Given the description of an element on the screen output the (x, y) to click on. 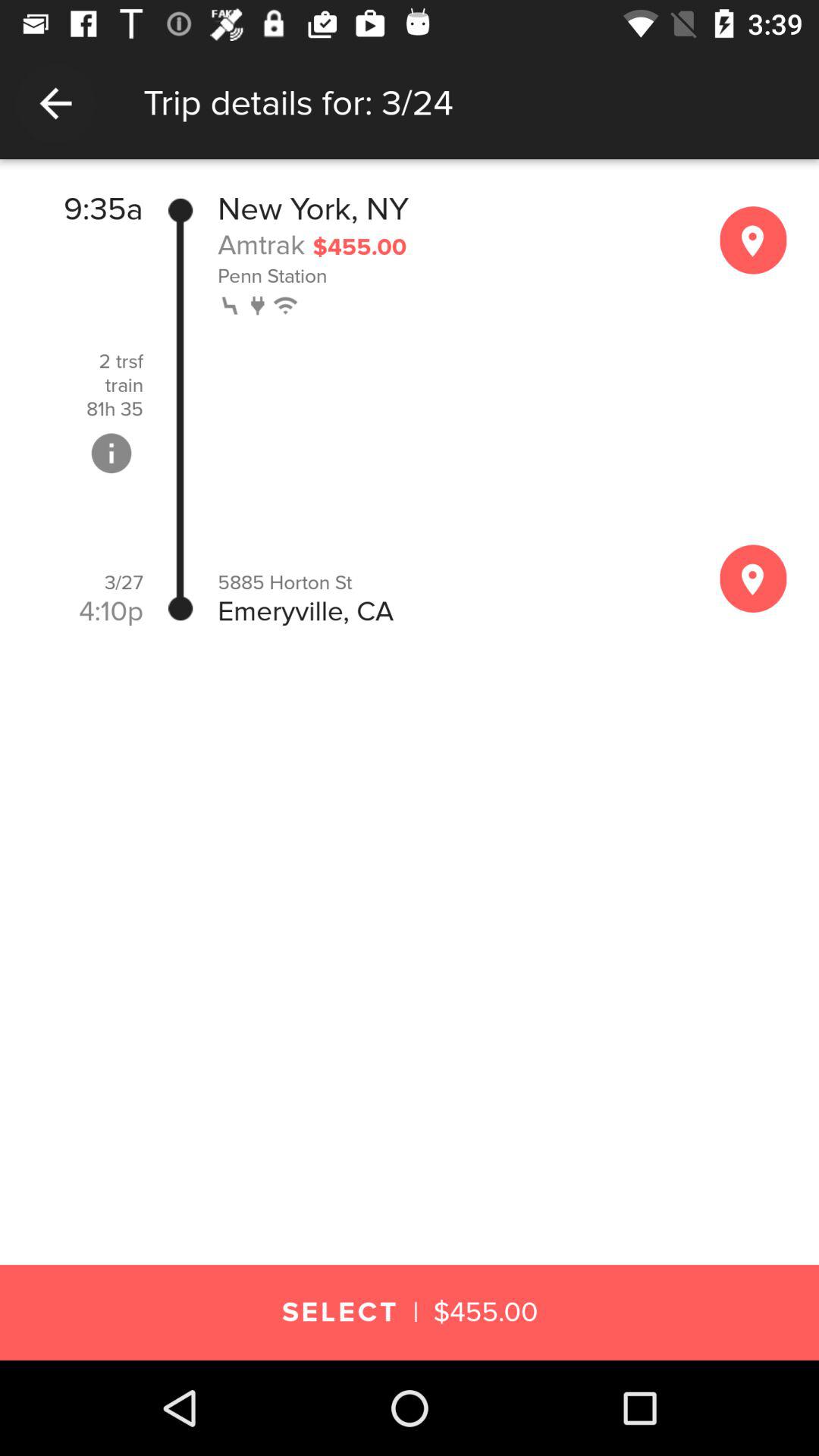
turn off the icon above 5885 horton st (259, 303)
